Given the description of an element on the screen output the (x, y) to click on. 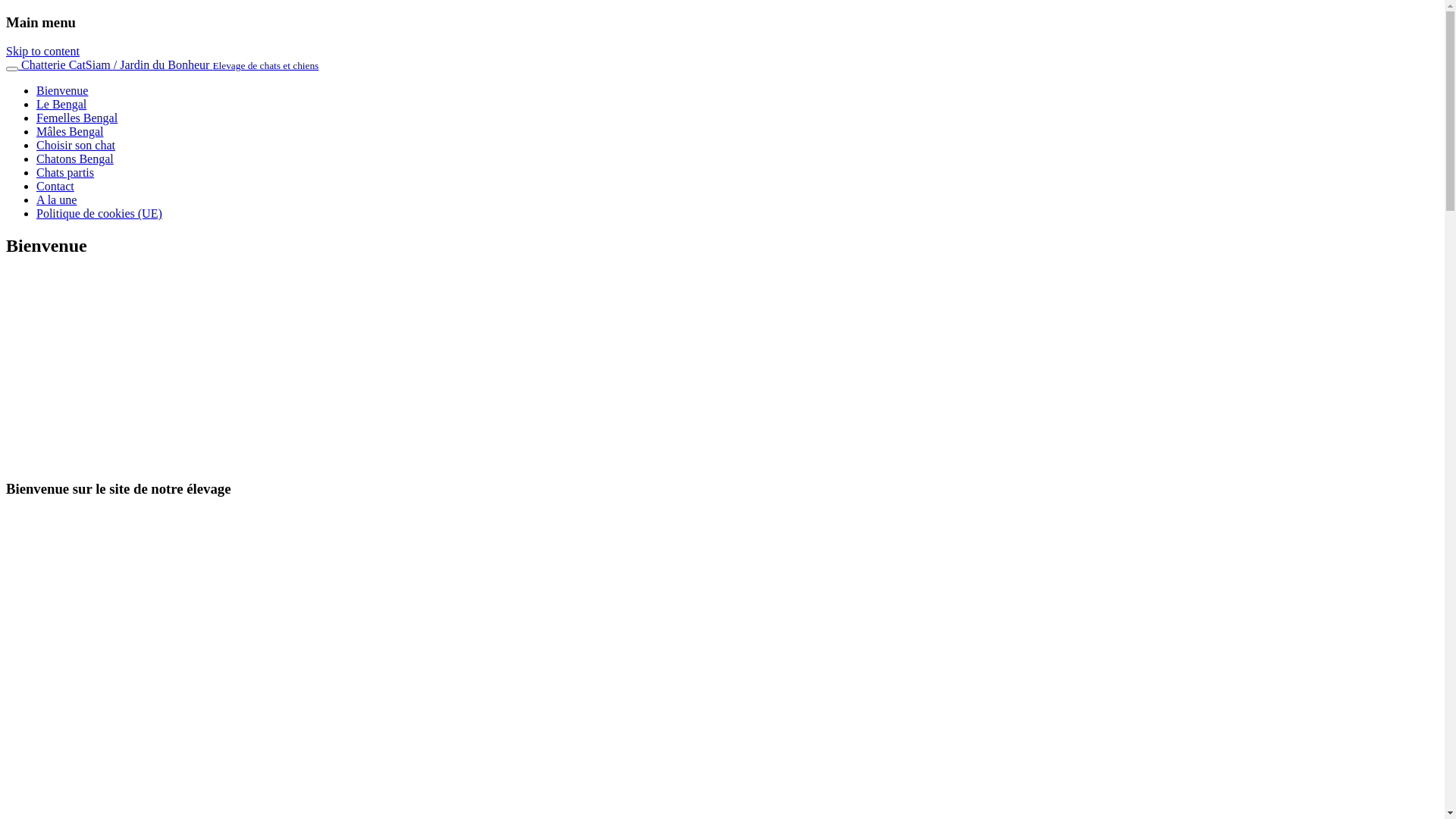
Politique de cookies (UE) Element type: text (99, 213)
Femelles Bengal Element type: text (76, 117)
Bengal Brown Element type: hover (6, 546)
Contact Element type: text (55, 185)
Bienvenue Element type: text (61, 90)
Chats partis Element type: text (65, 172)
Skip to content Element type: text (42, 50)
A la une Element type: text (56, 199)
Chatons Bengal Element type: text (74, 158)
Choisir son chat Element type: text (75, 144)
Le Bengal Element type: text (61, 103)
Bengal Brown Element type: hover (6, 542)
